Given the description of an element on the screen output the (x, y) to click on. 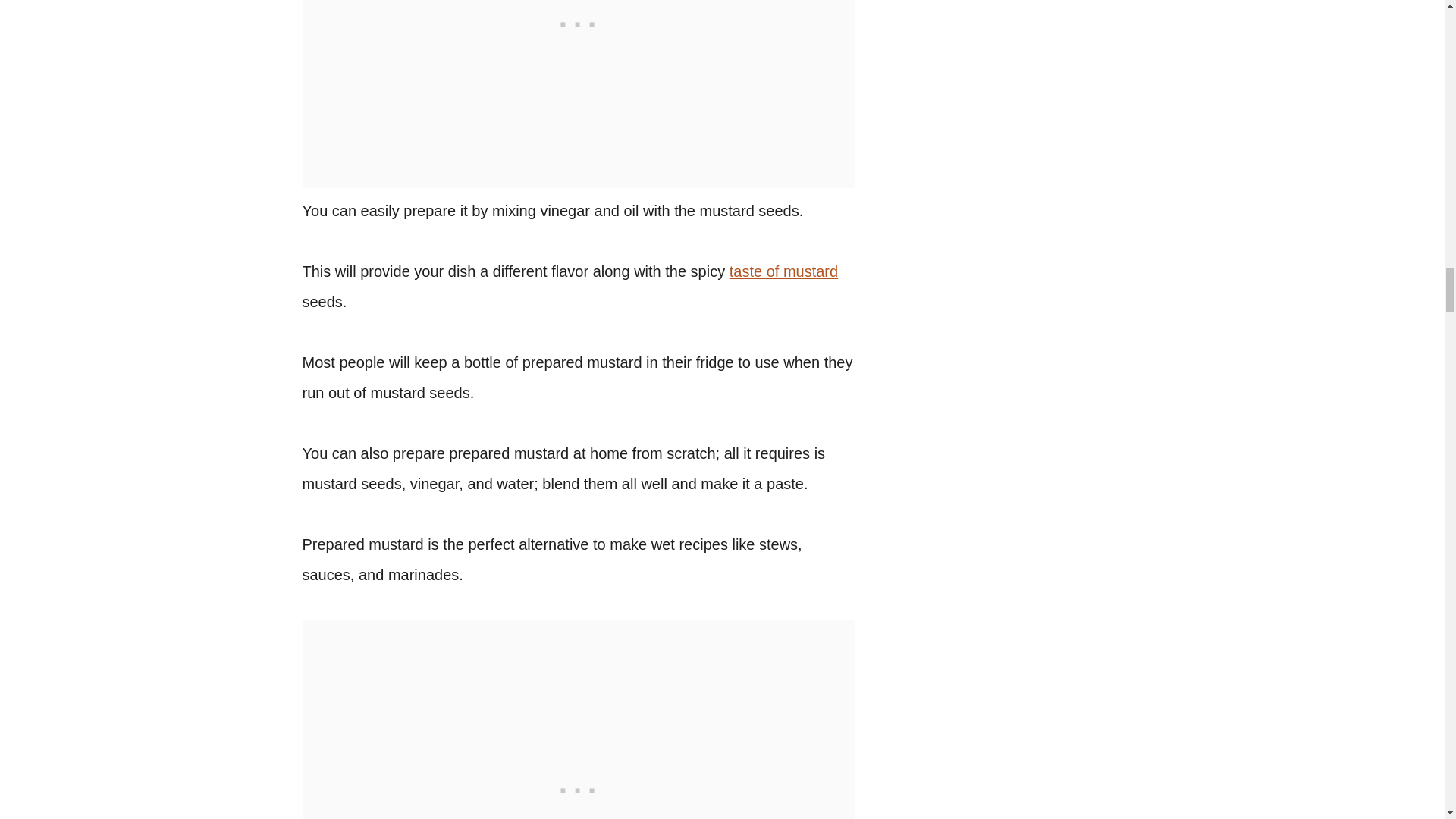
taste of mustard (783, 271)
